Given the description of an element on the screen output the (x, y) to click on. 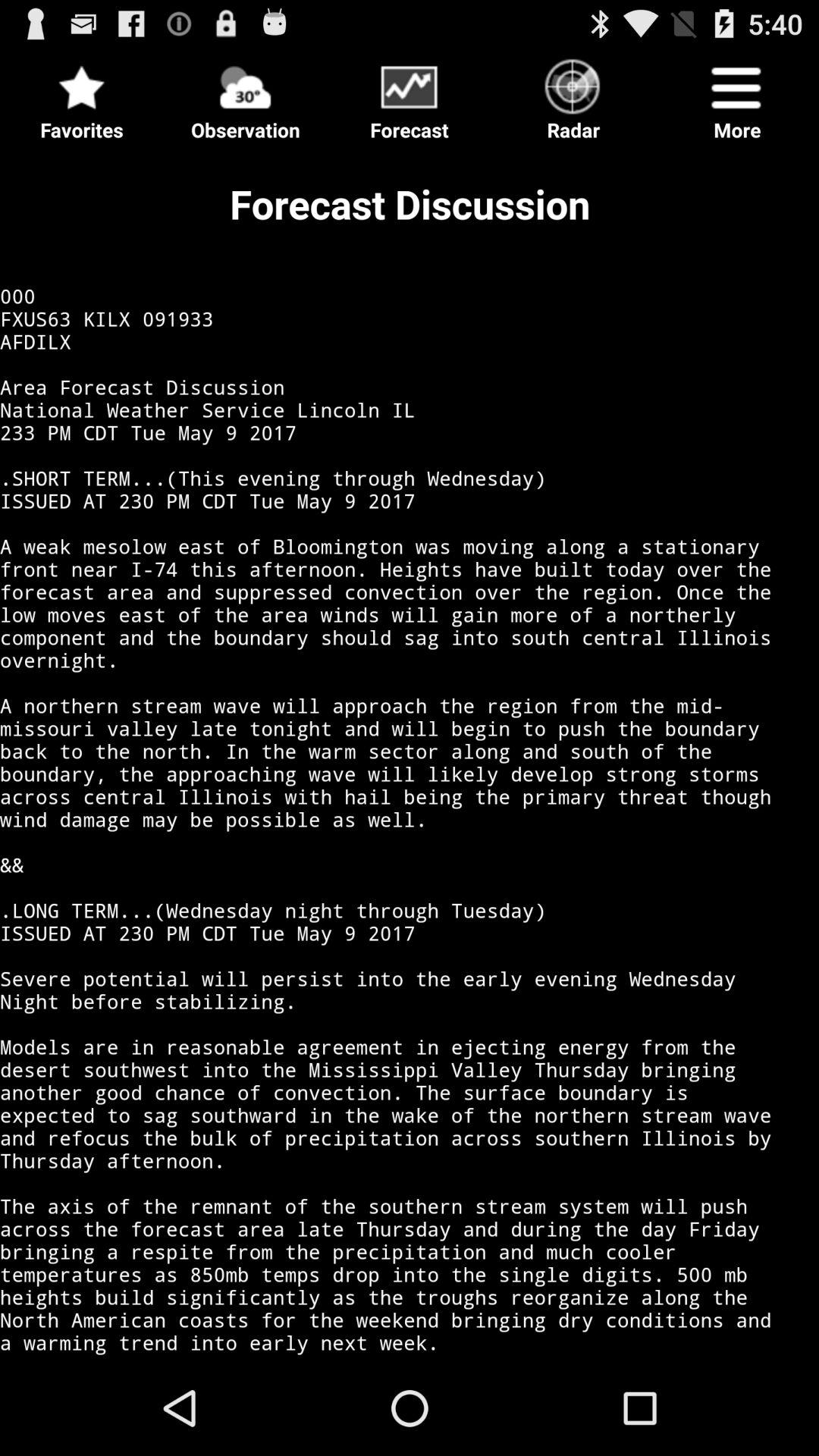
jump to forecast button (409, 95)
